Given the description of an element on the screen output the (x, y) to click on. 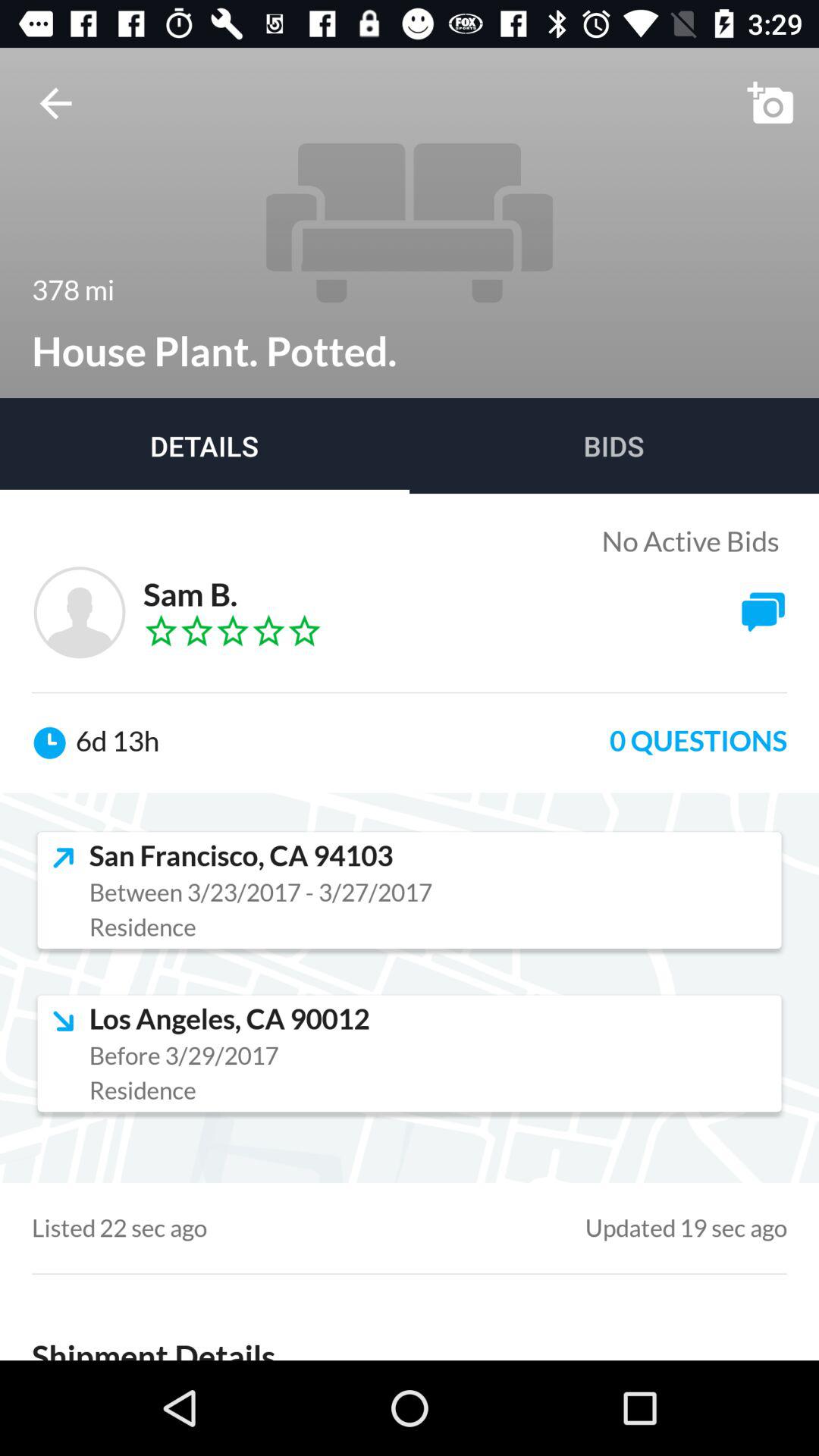
click on the button which is next to sam b (763, 612)
